Given the description of an element on the screen output the (x, y) to click on. 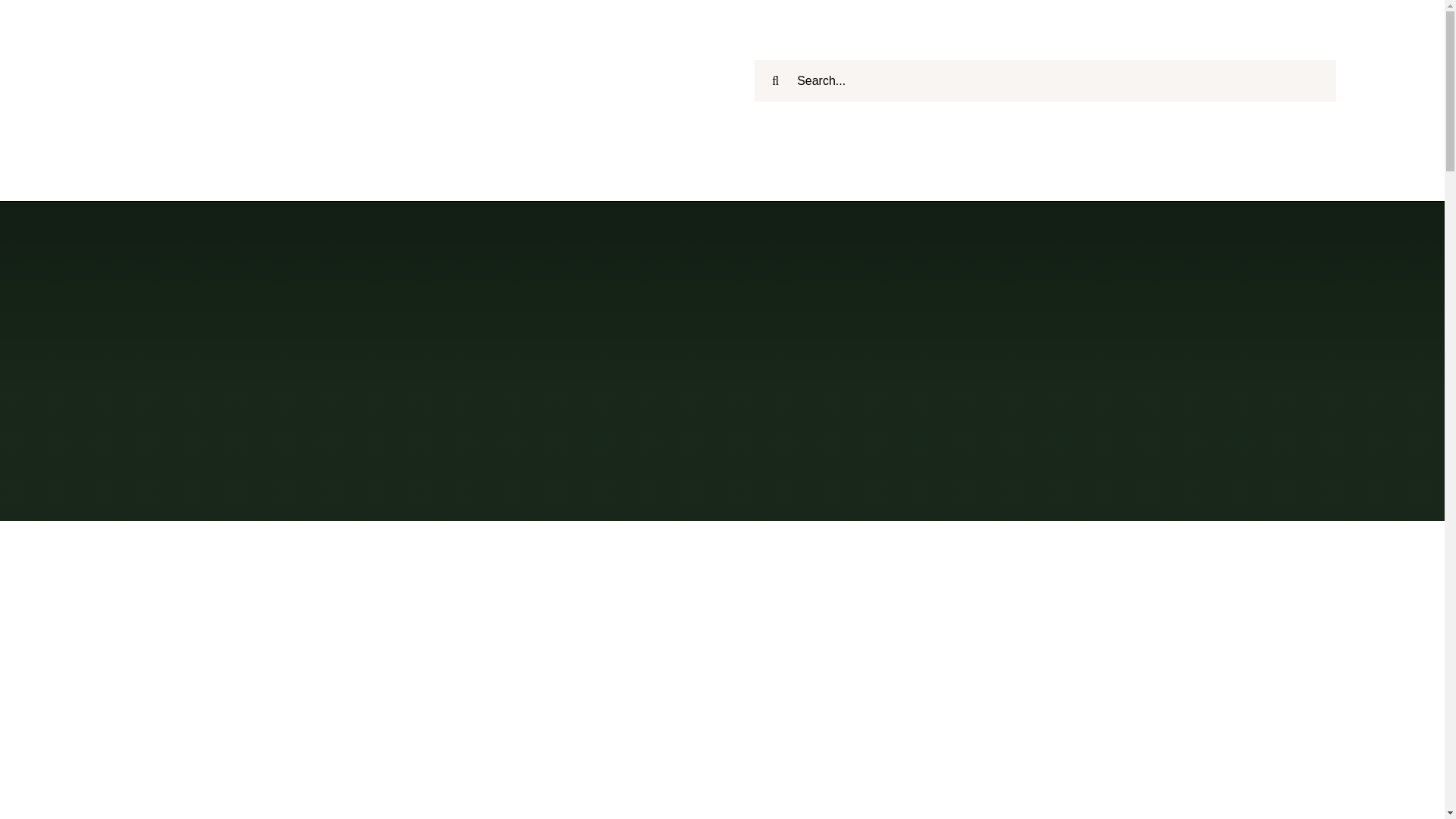
Log In (1363, 196)
